Given the description of an element on the screen output the (x, y) to click on. 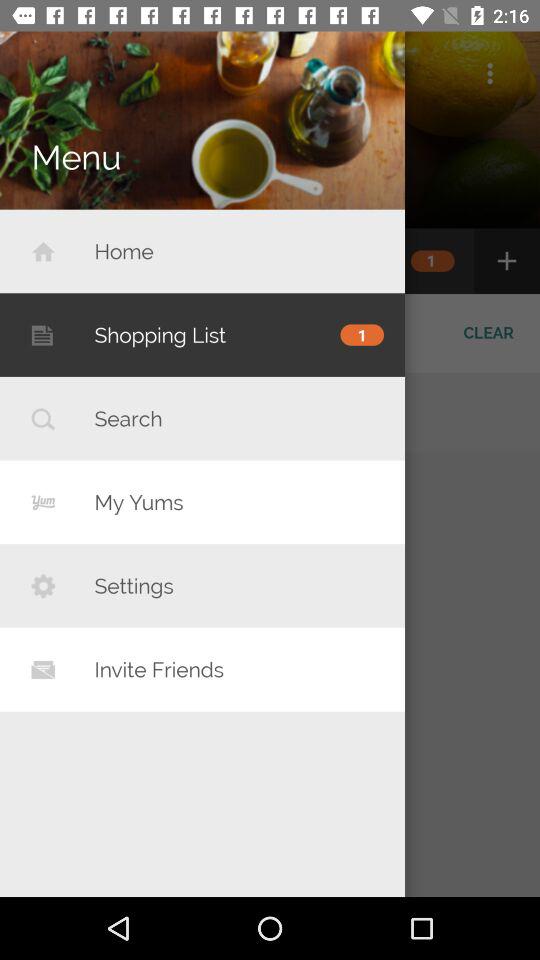
choose the plus icon (506, 260)
click on the option below the time (489, 73)
